Given the description of an element on the screen output the (x, y) to click on. 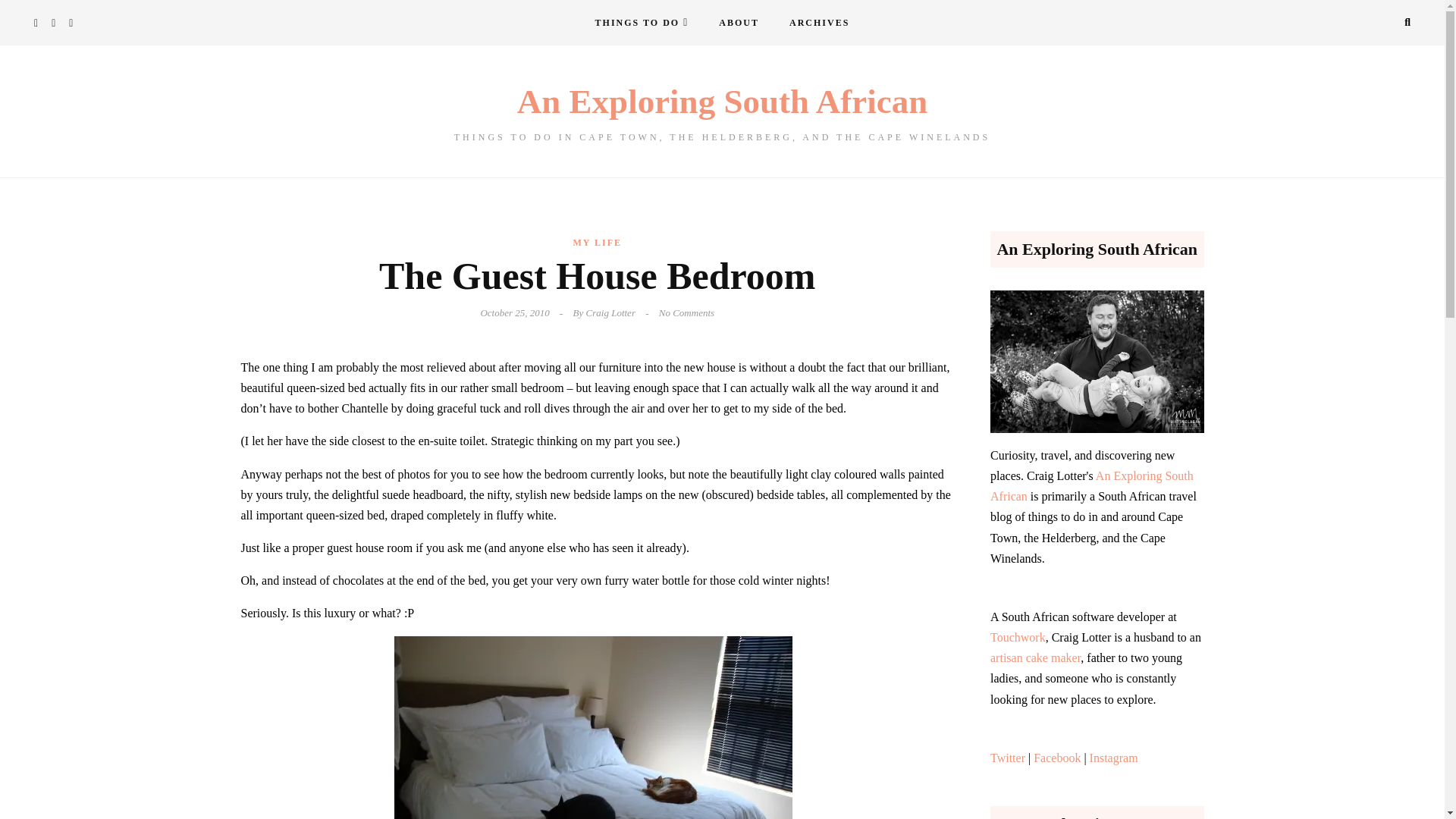
An Exploring South Africa and Craig Lotter (738, 22)
Craig Lotter carrying his little girl Jessica (1097, 361)
THINGS TO DO (641, 22)
the-white-guest-house-bedroom (593, 727)
